Given the description of an element on the screen output the (x, y) to click on. 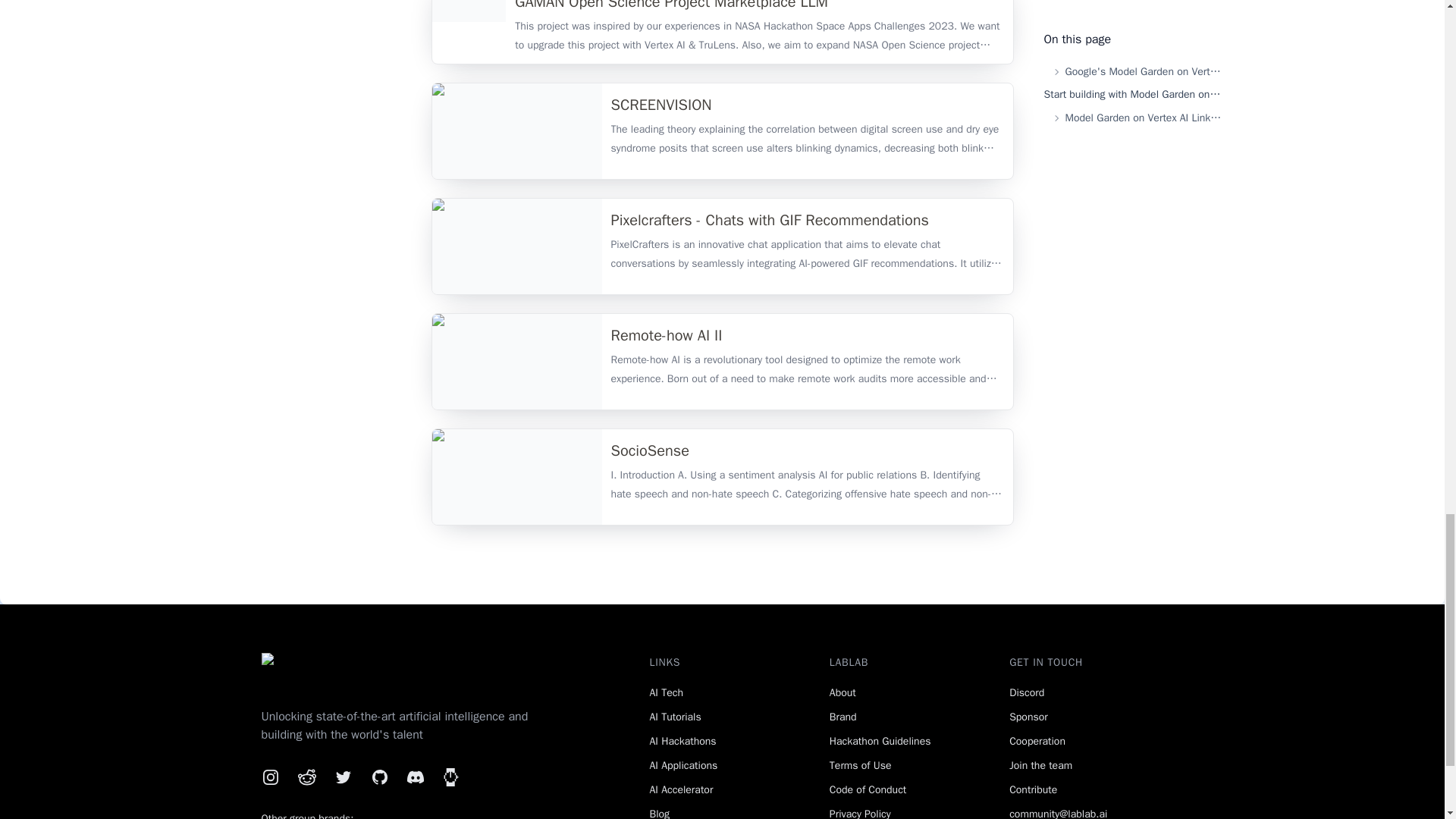
Instagram (269, 777)
